Given the description of an element on the screen output the (x, y) to click on. 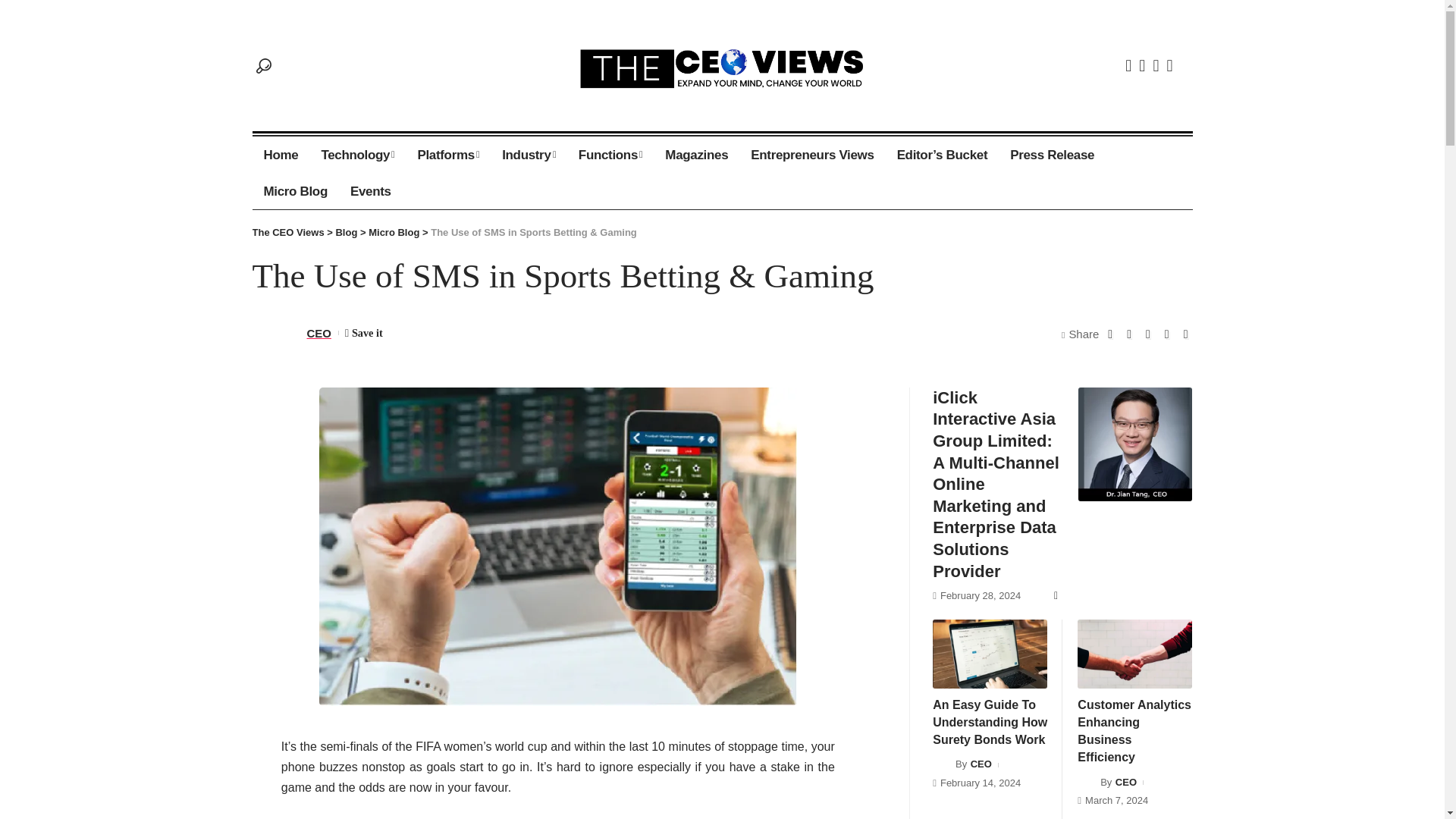
Technology (357, 154)
Platforms (448, 154)
Go to Blog. (345, 232)
2024-02-28T00:42:37-05:00 (980, 596)
Home (279, 154)
Go to The CEO Views. (287, 232)
Go to the Micro Blog Category archives. (393, 232)
